Given the description of an element on the screen output the (x, y) to click on. 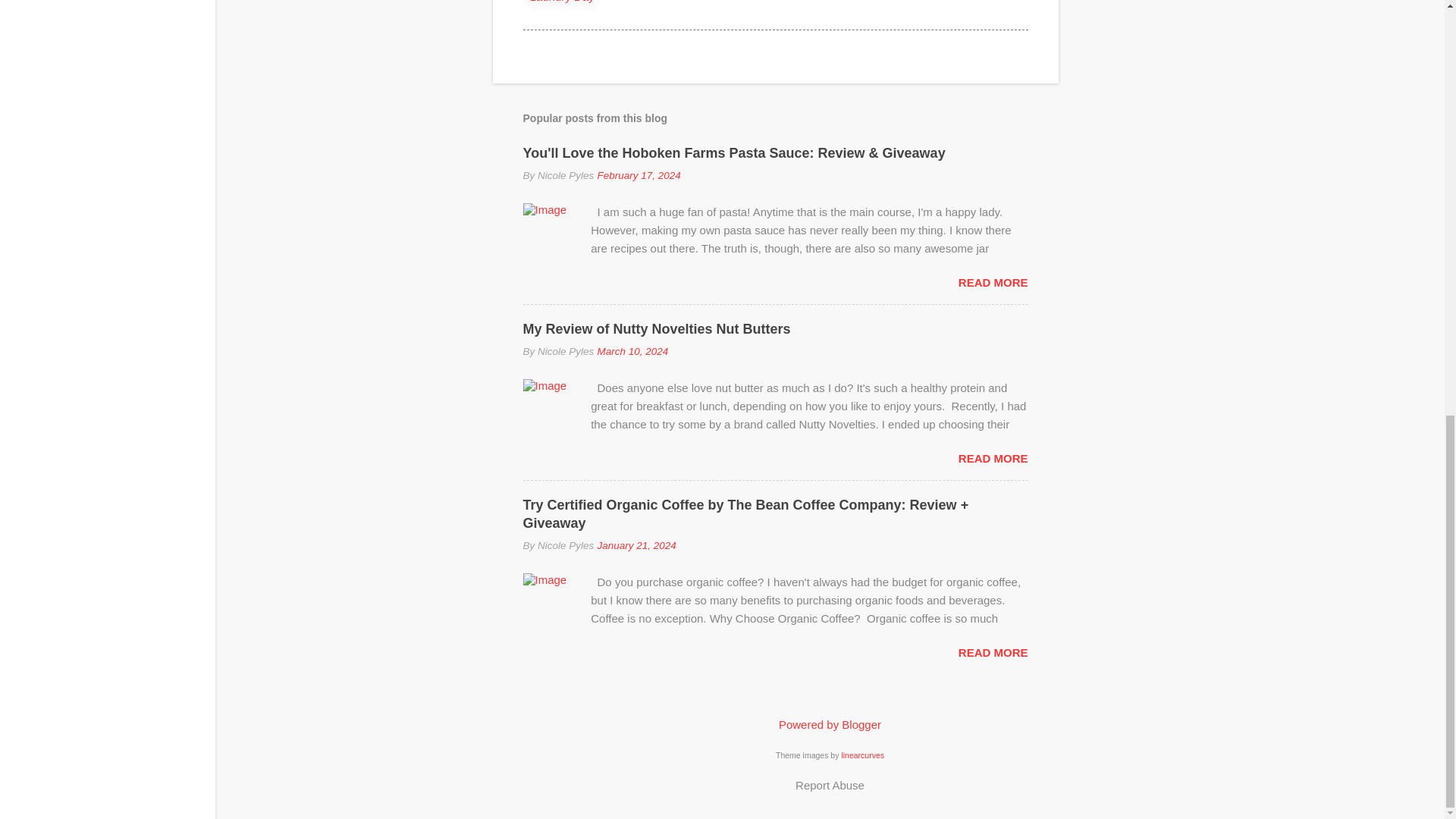
Powered by Blogger (829, 724)
linearcurves (862, 754)
March 10, 2024 (632, 351)
permanent link (637, 174)
Report Abuse (829, 784)
READ MORE (992, 458)
My Review of Nutty Novelties Nut Butters (656, 328)
READ MORE (992, 652)
READ MORE (992, 282)
January 21, 2024 (635, 545)
Laundry Day (561, 4)
February 17, 2024 (637, 174)
